Given the description of an element on the screen output the (x, y) to click on. 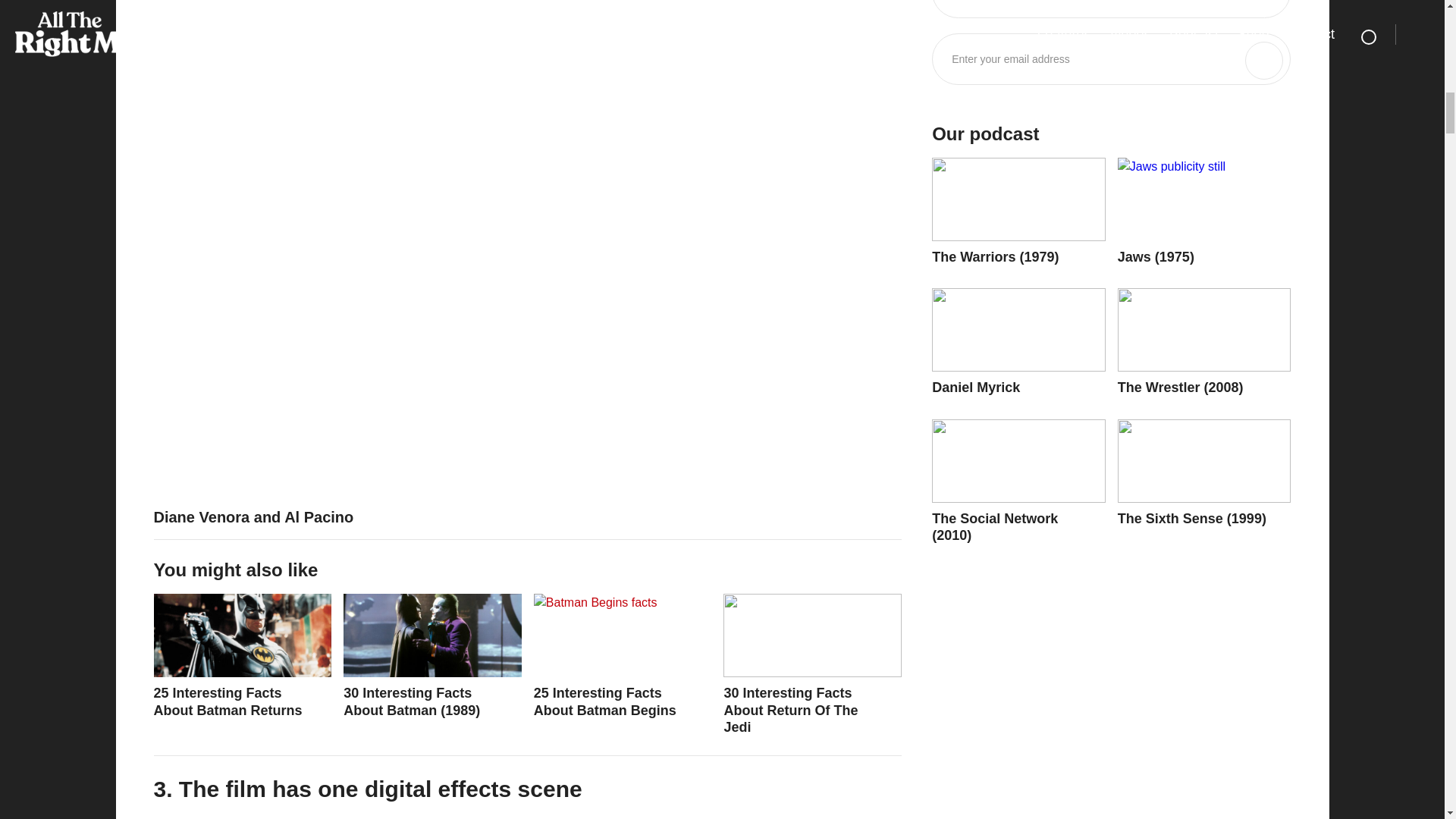
Sign up (1263, 60)
25 Interesting Facts About Batman Begins (622, 656)
25 Interesting Facts About Batman Returns (241, 656)
30 Interesting Facts About Return Of The Jedi (812, 664)
